Given the description of an element on the screen output the (x, y) to click on. 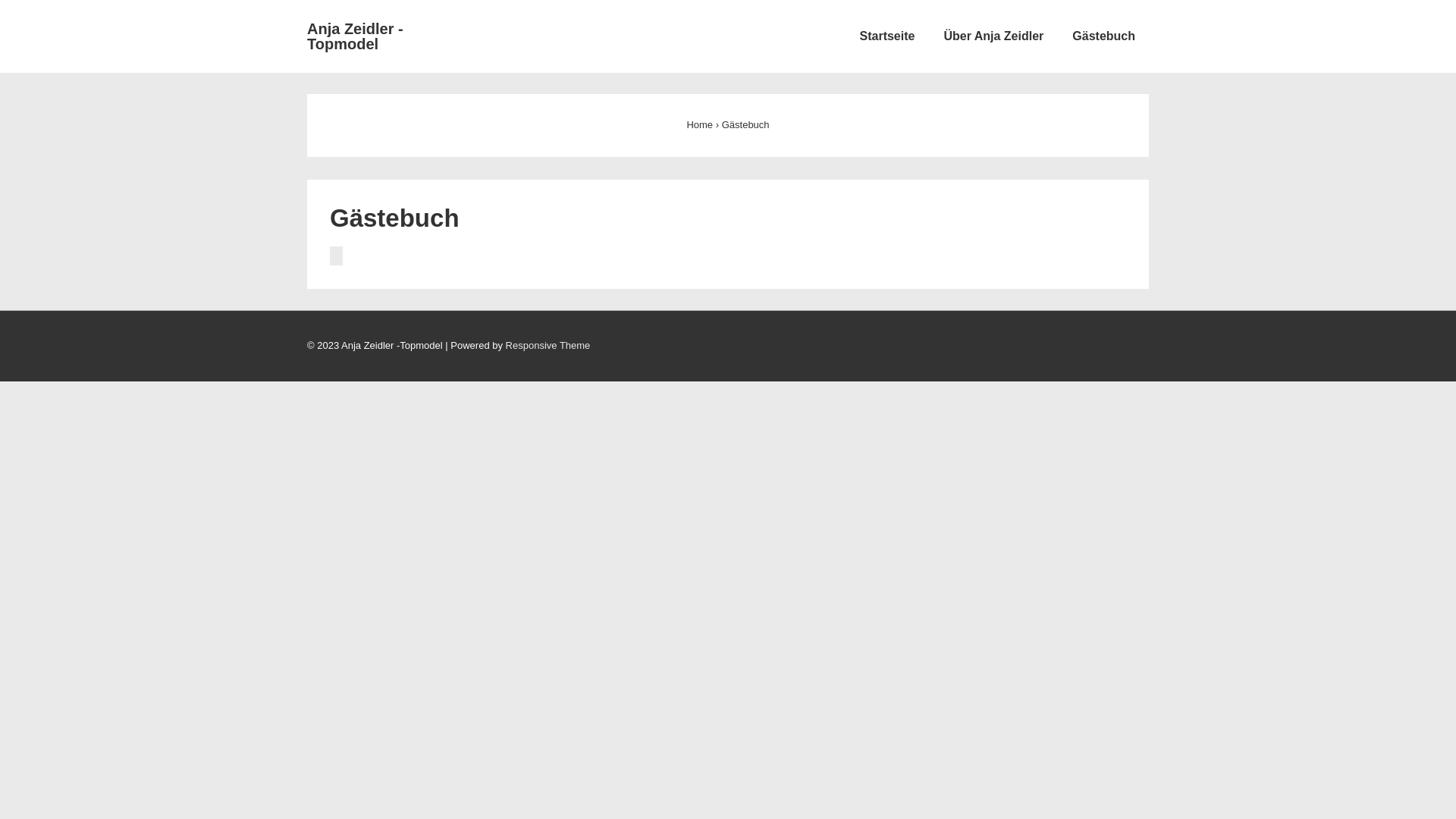
Anja Zeidler -Topmodel Element type: text (355, 36)
Responsive Theme Element type: text (547, 345)
Startseite Element type: text (887, 36)
Home Element type: text (699, 124)
